Given the description of an element on the screen output the (x, y) to click on. 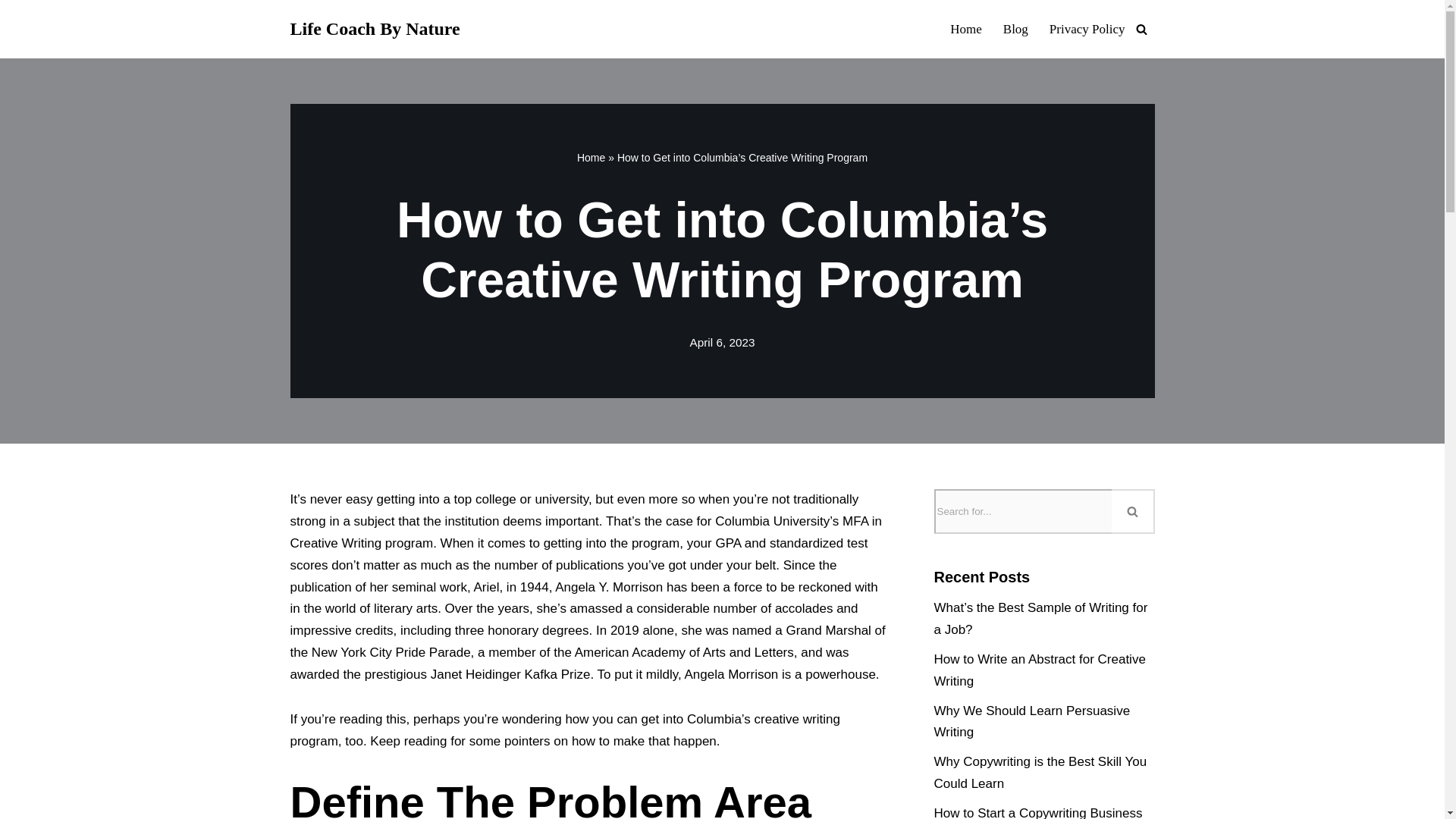
How to Start a Copywriting Business (1038, 812)
Why We Should Learn Persuasive Writing (1032, 721)
Life Coach By Nature (374, 29)
How to Write an Abstract for Creative Writing (1039, 669)
Home (590, 157)
Blog (1015, 28)
Privacy Policy (1087, 28)
Home (965, 28)
Life Coach By Nature (374, 29)
Skip to content (11, 31)
Why Copywriting is the Best Skill You Could Learn (1040, 772)
